Given the description of an element on the screen output the (x, y) to click on. 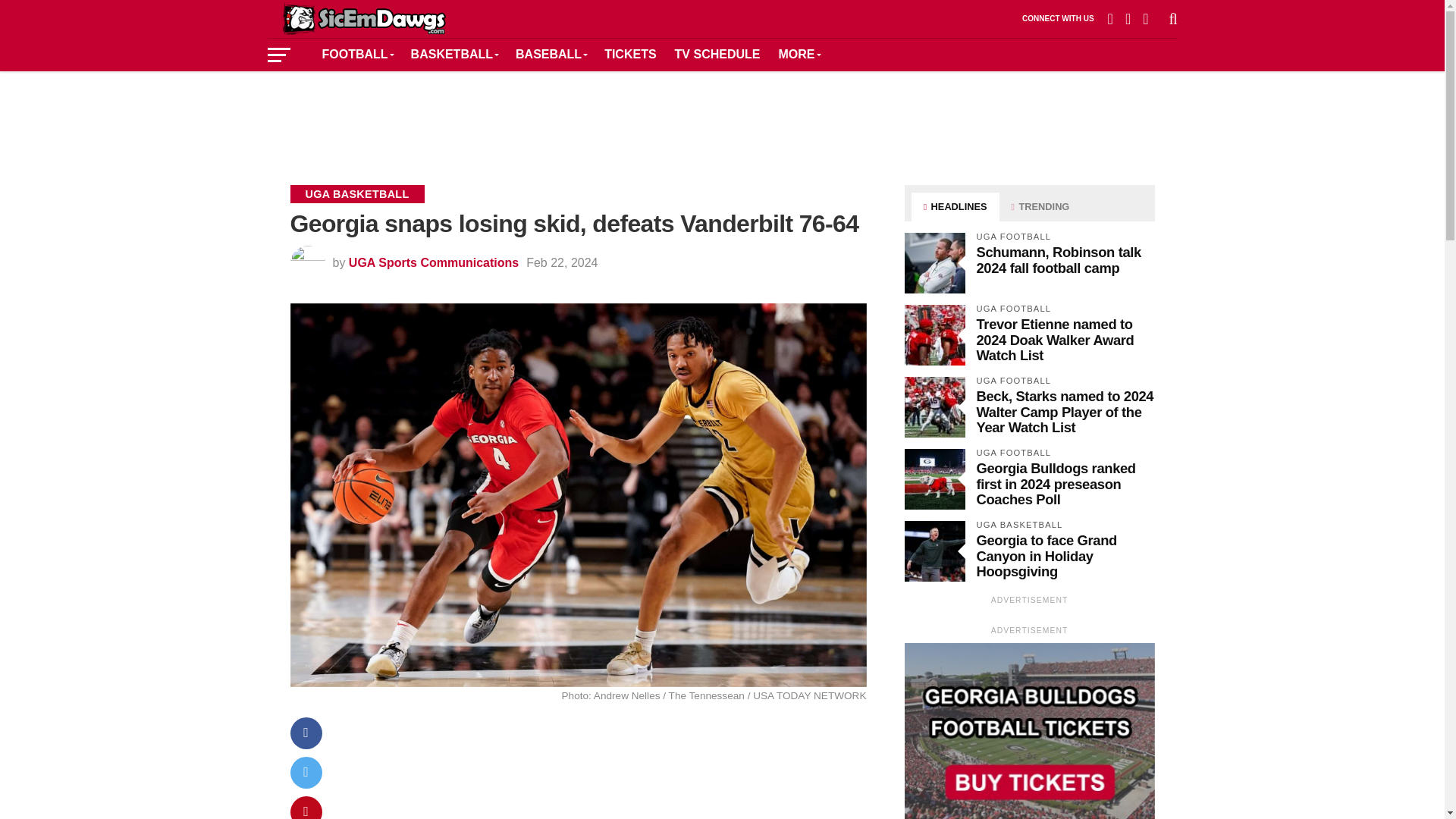
Posts by UGA Sports Communications (433, 262)
Advertisement (721, 116)
Advertisement (604, 775)
